Given the description of an element on the screen output the (x, y) to click on. 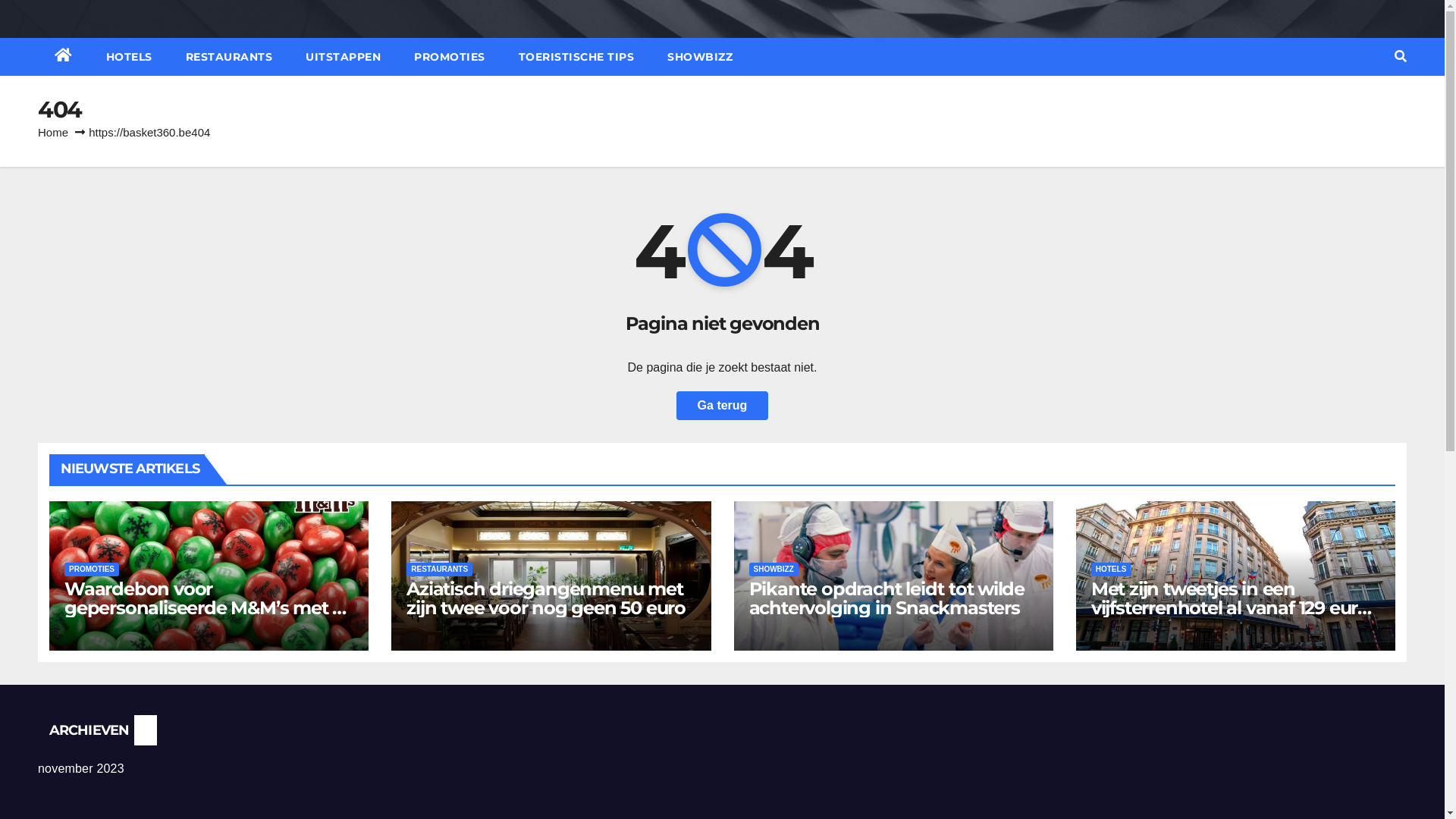
UITSTAPPEN Element type: text (342, 56)
Ga terug Element type: text (722, 405)
HOTELS Element type: text (1111, 569)
RESTAURANTS Element type: text (228, 56)
november 2023 Element type: text (80, 768)
Home Element type: text (52, 131)
RESTAURANTS Element type: text (439, 569)
TOERISTISCHE TIPS Element type: text (576, 56)
SHOWBIZZ Element type: text (699, 56)
PROMOTIES Element type: text (91, 569)
HOTELS Element type: text (129, 56)
PROMOTIES Element type: text (449, 56)
SHOWBIZZ Element type: text (773, 569)
Aziatisch driegangenmenu met zijn twee voor nog geen 50 euro Element type: text (545, 597)
